Given the description of an element on the screen output the (x, y) to click on. 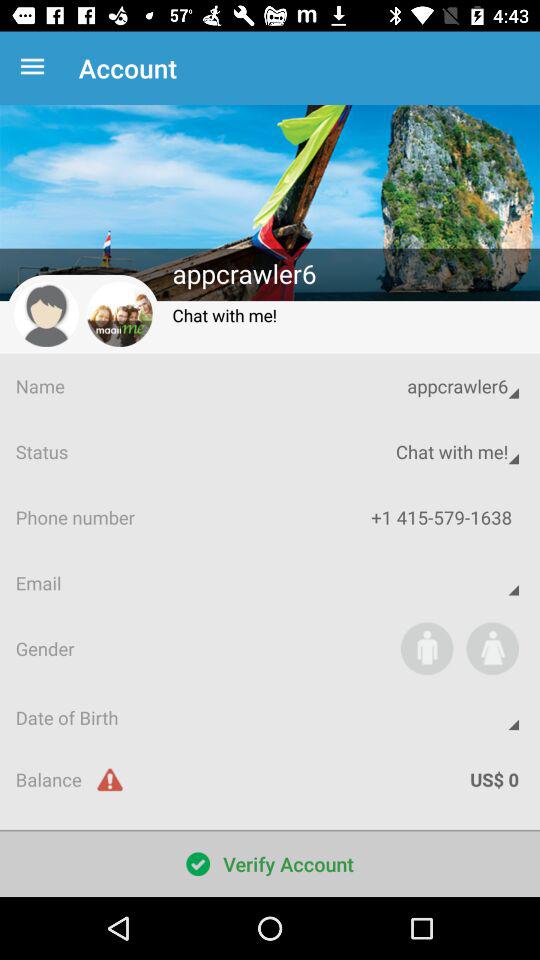
indicate that you are male on your profile (426, 648)
